Given the description of an element on the screen output the (x, y) to click on. 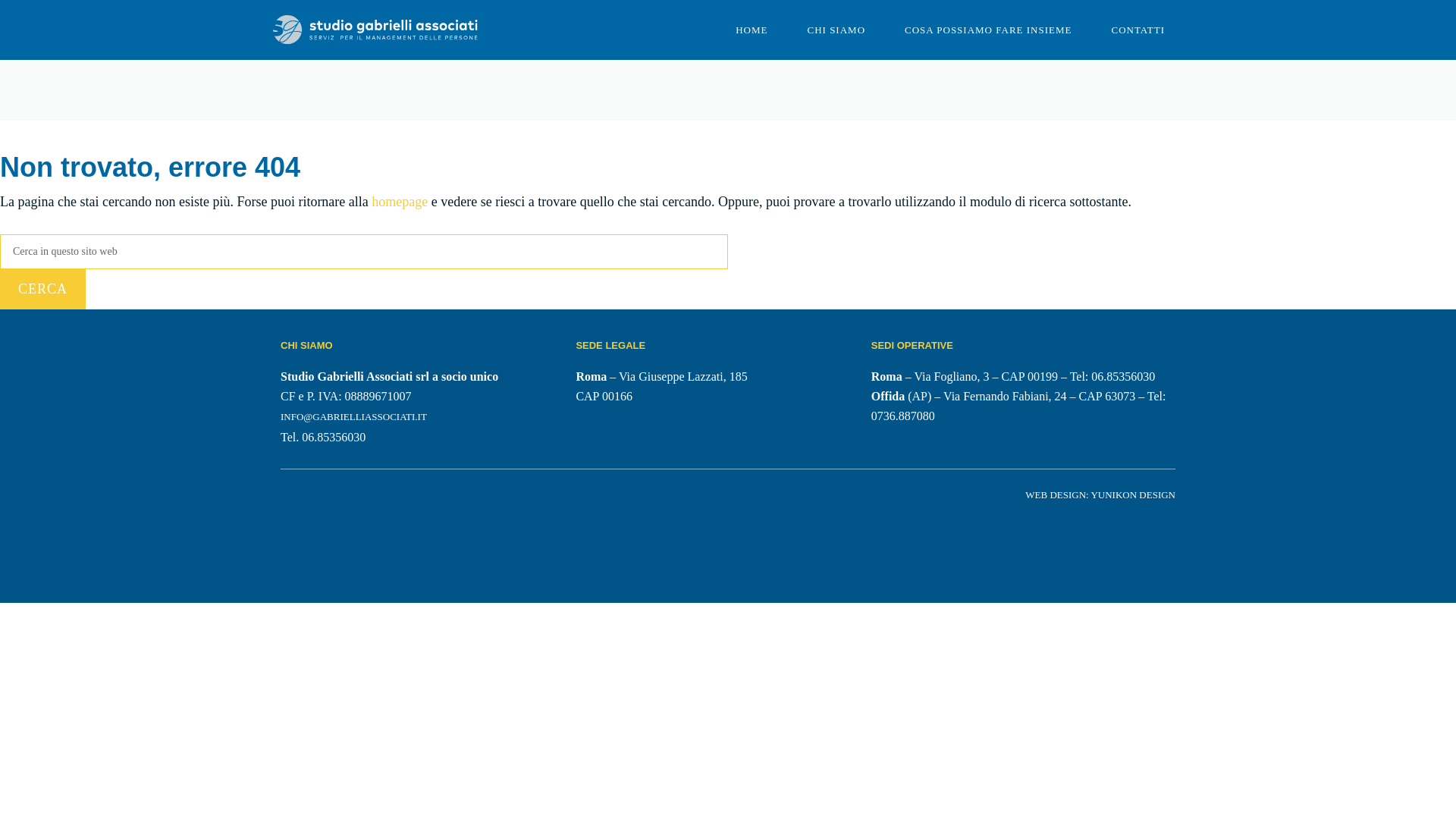
CHI SIAMO (836, 29)
Cerca (42, 289)
CONTATTI (1137, 29)
homepage (399, 201)
WEB DESIGN: YUNIKON DESIGN (1099, 494)
Gabrielli Associati (375, 29)
HOME (751, 29)
Cerca (42, 289)
COSA POSSIAMO FARE INSIEME (987, 29)
Gabrielli Associati (375, 30)
